Given the description of an element on the screen output the (x, y) to click on. 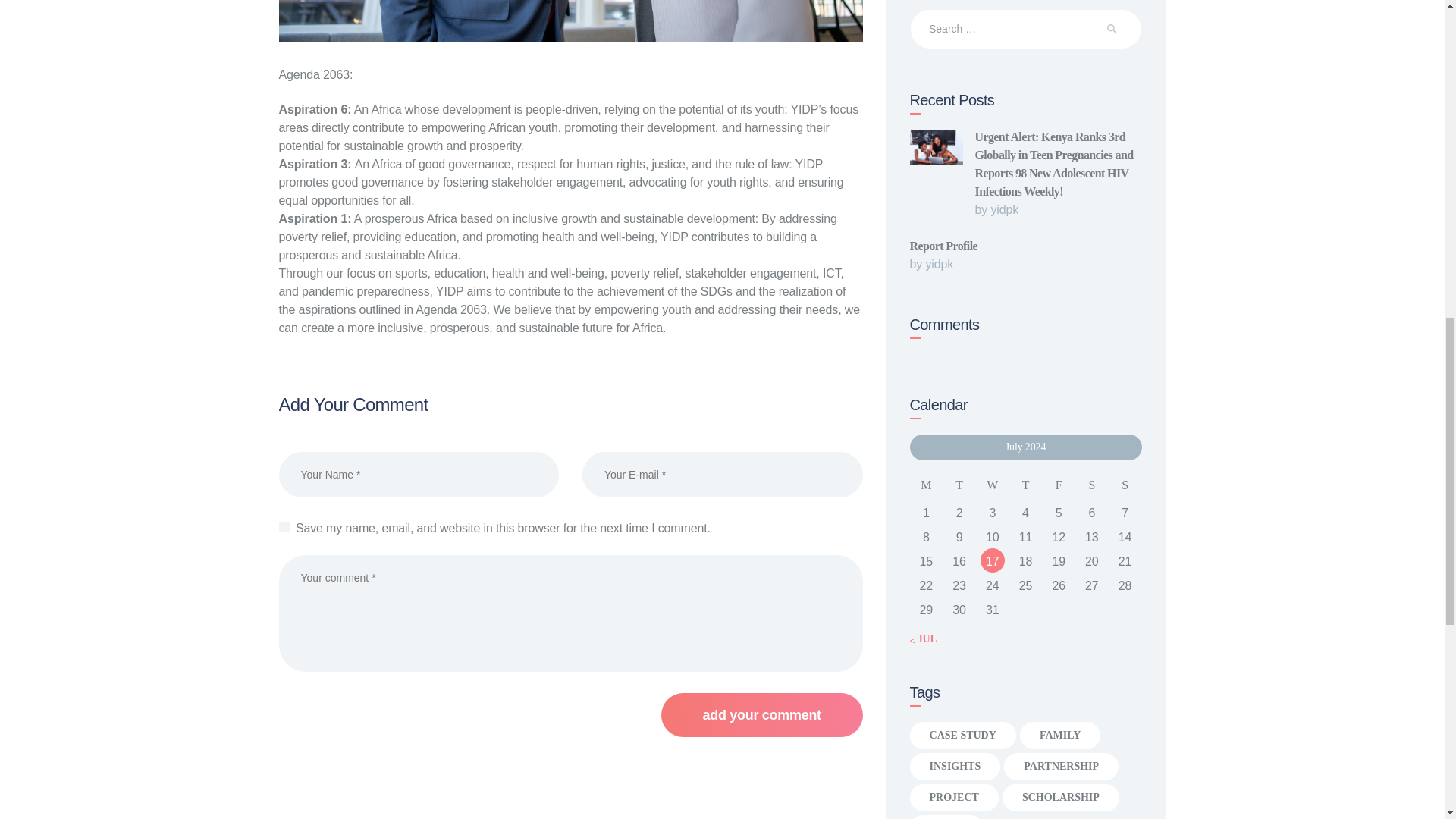
Search (1120, 29)
Thursday (1025, 485)
Add Your Comment (762, 714)
Search (1120, 29)
Wednesday (992, 485)
Tuesday (958, 485)
Search (1120, 29)
Monday (926, 485)
Friday (1058, 485)
Saturday (1091, 485)
Sunday (1124, 485)
Add Your Comment (762, 714)
